Given the description of an element on the screen output the (x, y) to click on. 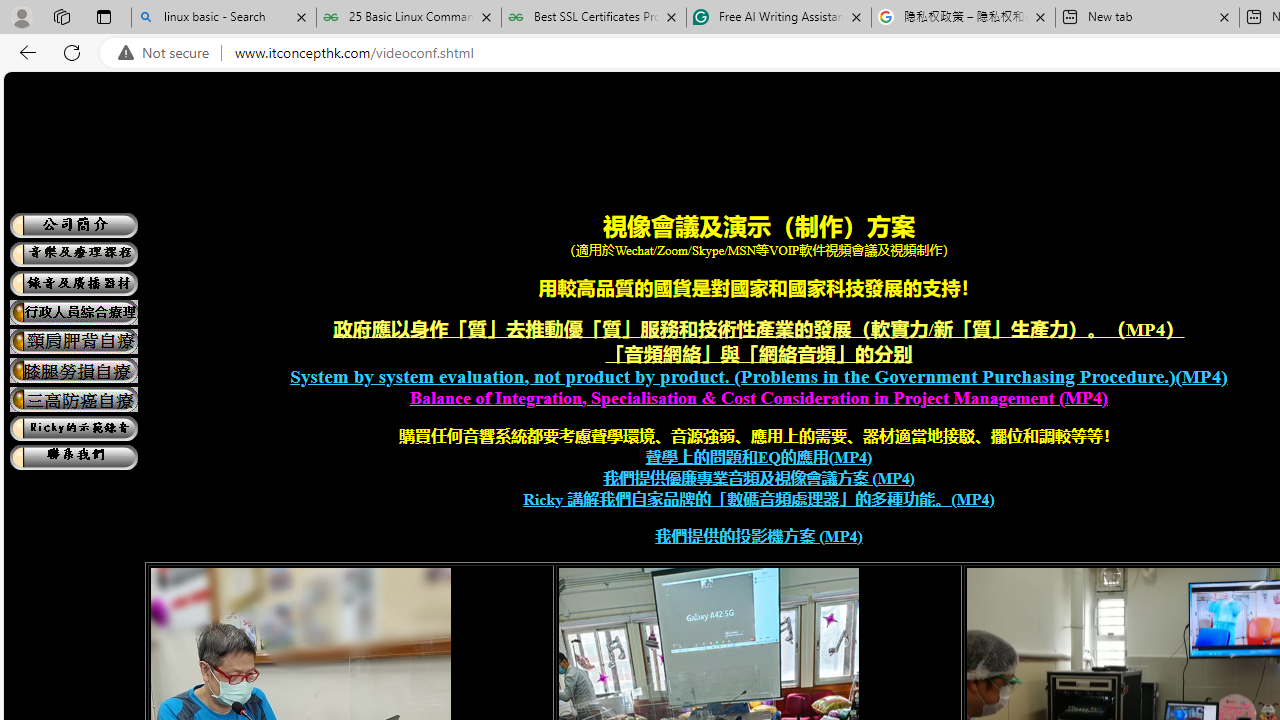
Not secure (168, 53)
Best SSL Certificates Provider in India - GeeksforGeeks (593, 17)
25 Basic Linux Commands For Beginners - GeeksforGeeks (408, 17)
